Given the description of an element on the screen output the (x, y) to click on. 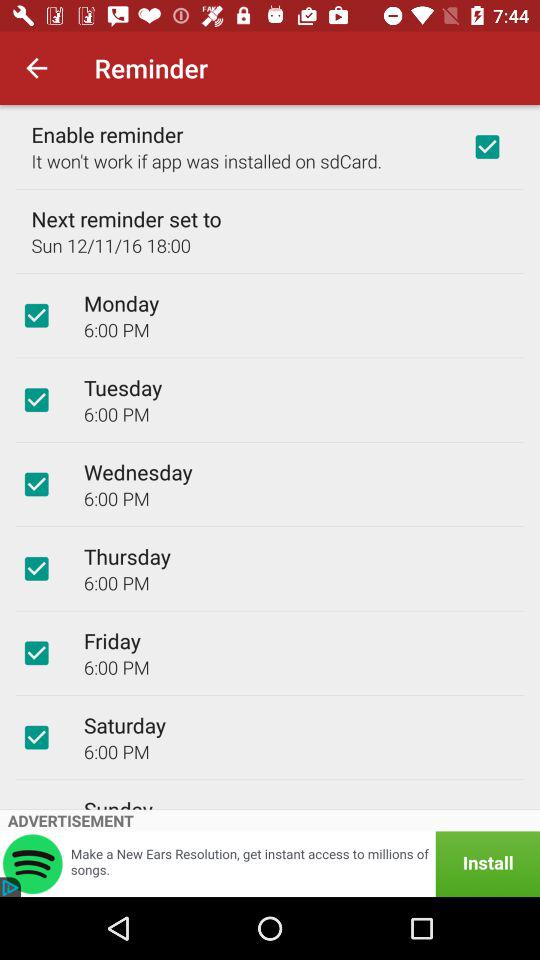
reminder day and time (36, 568)
